Given the description of an element on the screen output the (x, y) to click on. 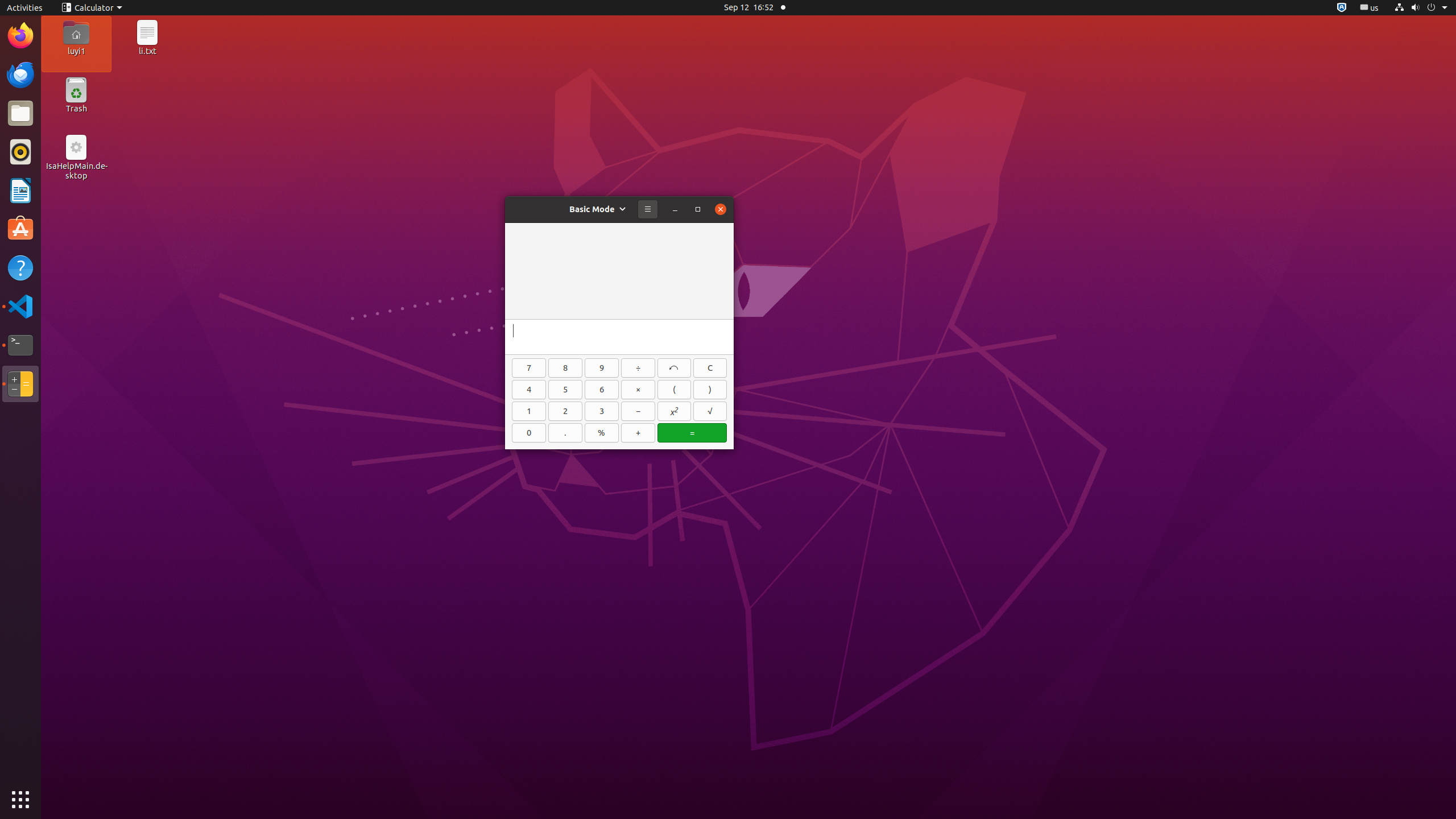
IsaHelpMain.desktop Element type: label (75, 170)
C Element type: push-button (709, 367)
6 Element type: push-button (601, 389)
− Element type: push-button (638, 410)
Calculator Element type: push-button (20, 383)
